Given the description of an element on the screen output the (x, y) to click on. 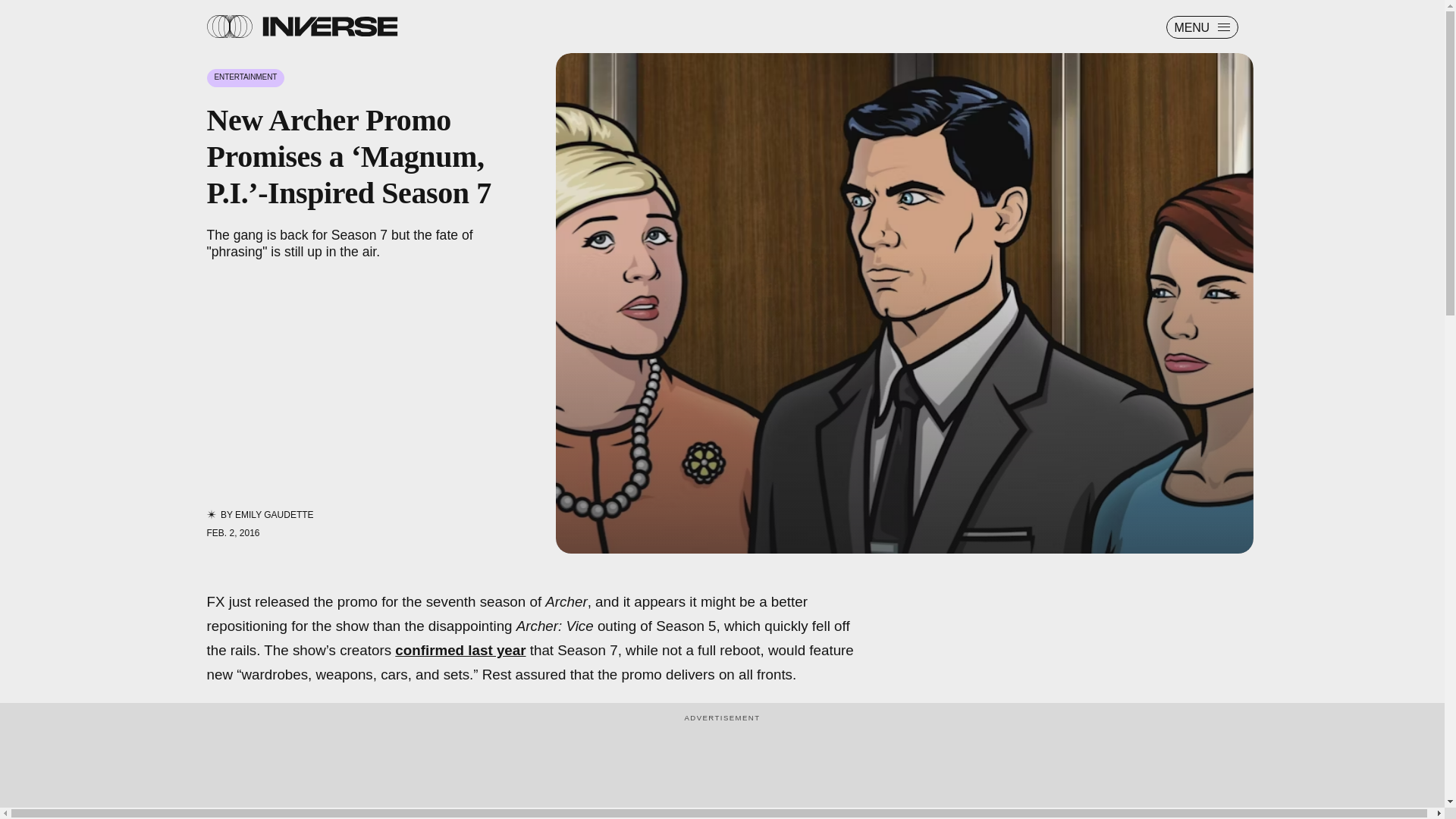
confirmed last year (459, 650)
EMILY GAUDETTE (274, 514)
Inverse (328, 26)
